Given the description of an element on the screen output the (x, y) to click on. 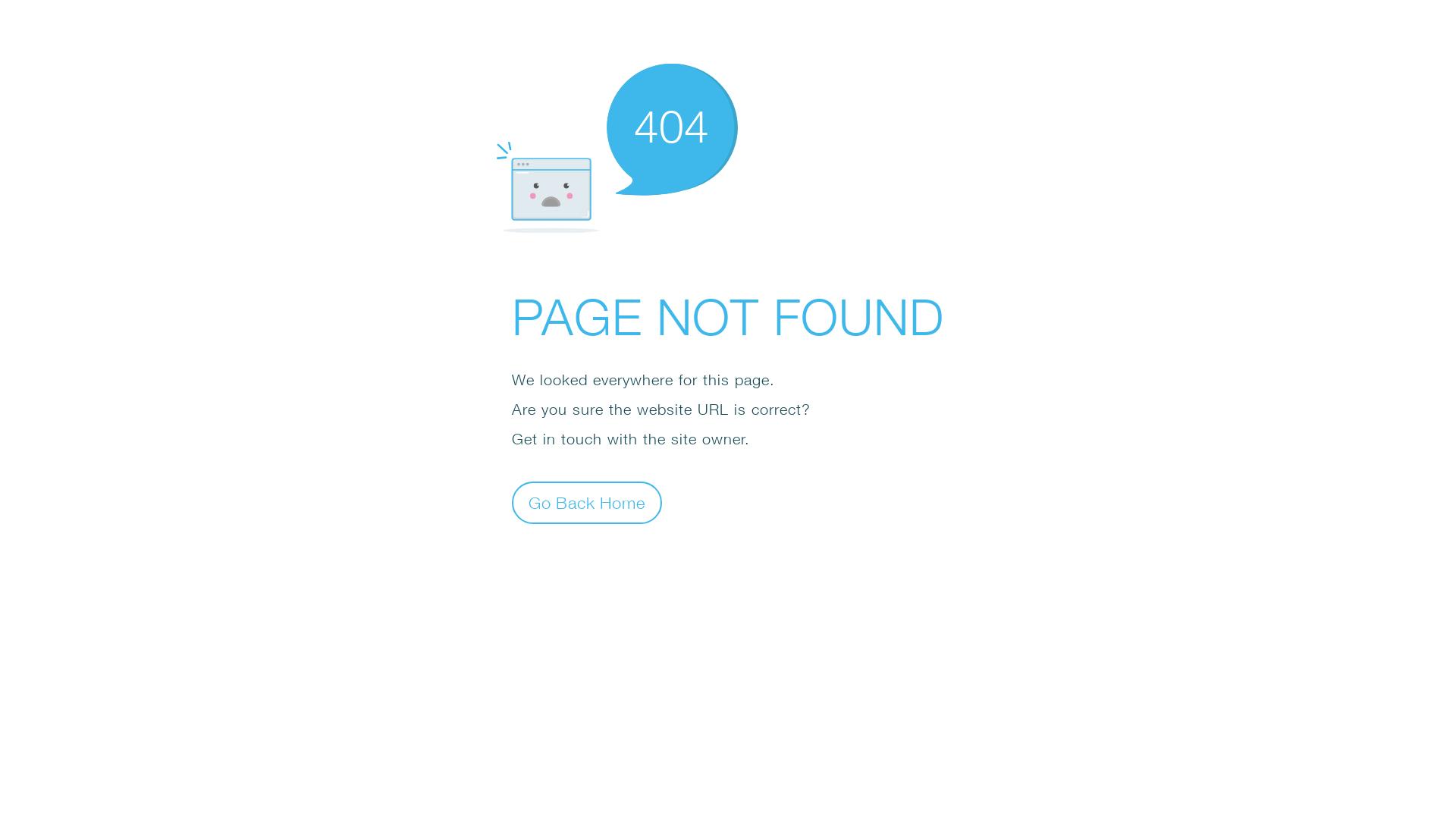
Go Back Home Element type: text (586, 502)
